Given the description of an element on the screen output the (x, y) to click on. 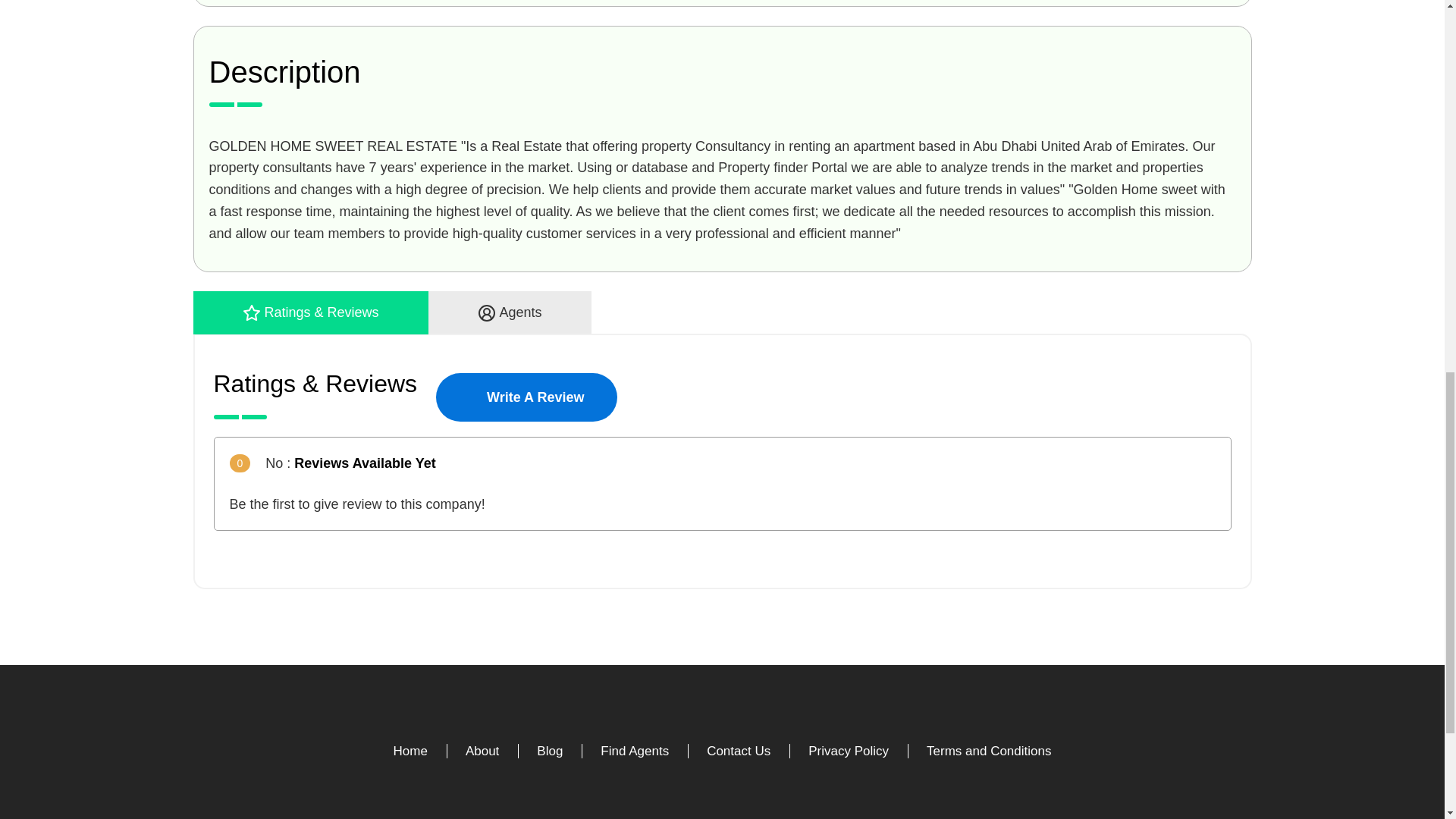
Blog (549, 750)
Terms and Conditions (988, 750)
Contact Us (738, 750)
About (482, 750)
Agents (509, 312)
Home (410, 750)
Find Agents (633, 750)
Privacy Policy (848, 750)
Write A Review (526, 397)
